Given the description of an element on the screen output the (x, y) to click on. 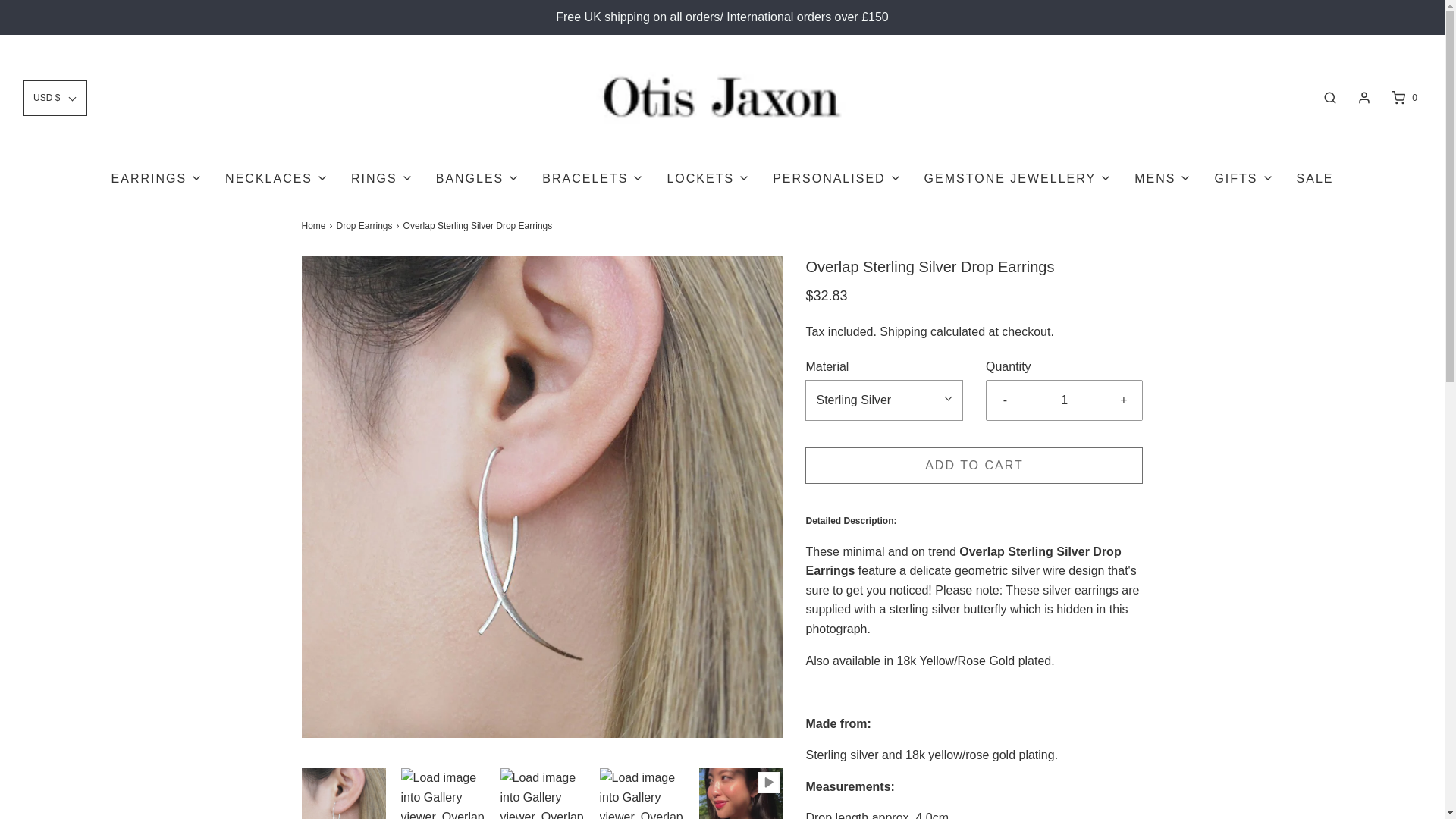
1 (1064, 400)
Cart (1403, 97)
Search (1329, 97)
Back to the frontpage (315, 226)
Log in (1364, 97)
